Given the description of an element on the screen output the (x, y) to click on. 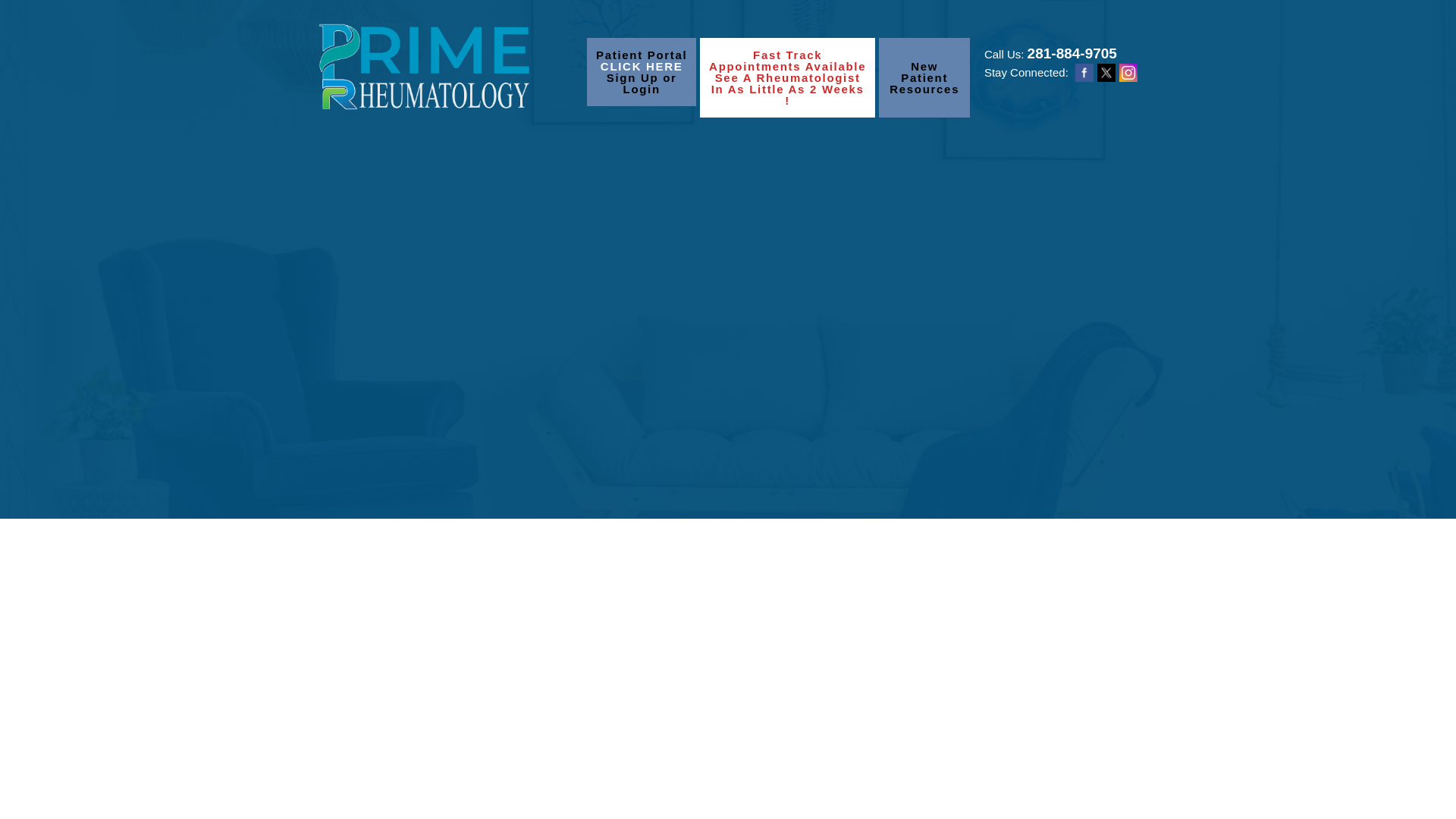
281-884-9705 (924, 77)
